Given the description of an element on the screen output the (x, y) to click on. 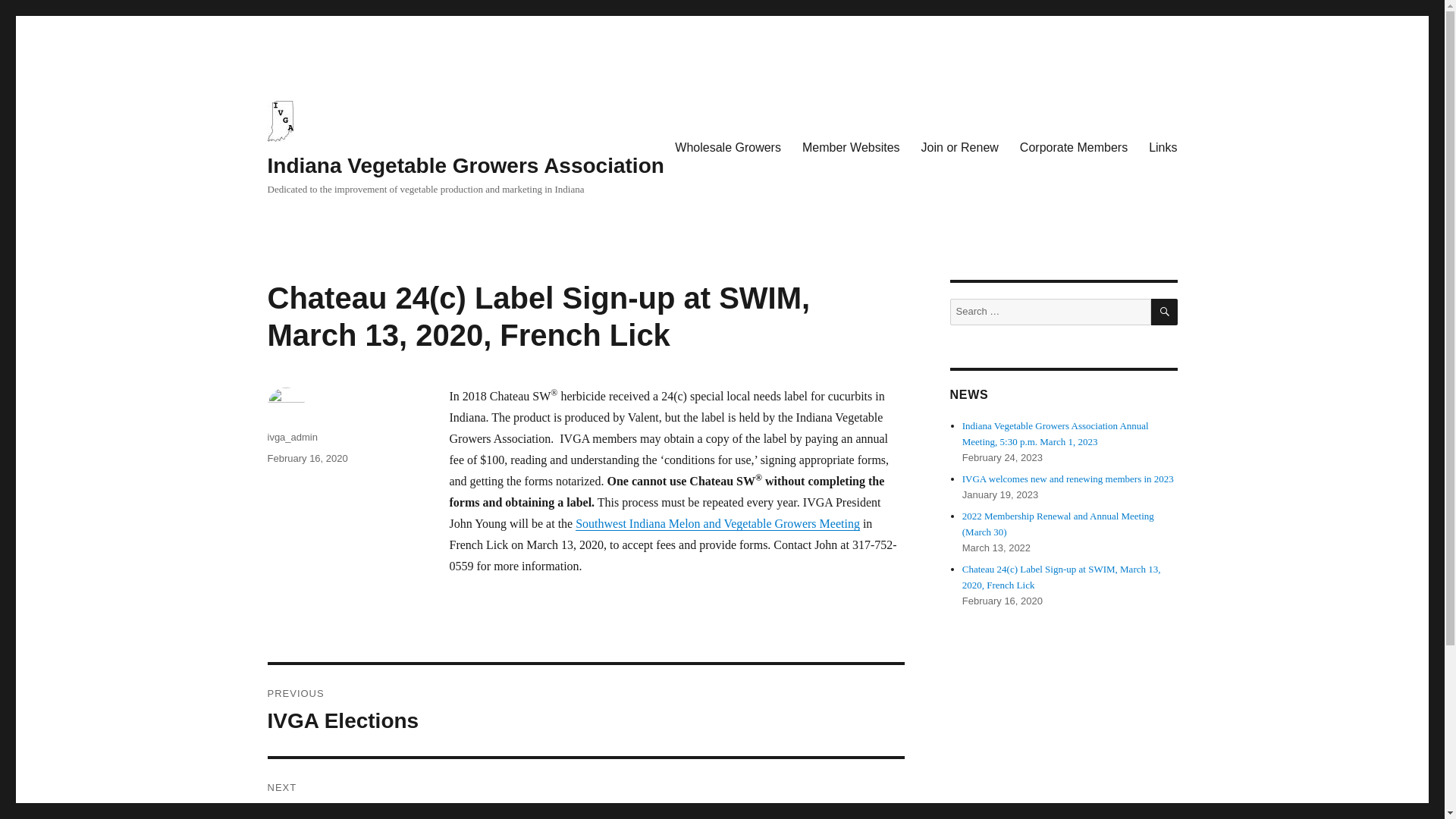
Southwest Indiana Melon and Vegetable Growers Meeting (717, 522)
Wholesale Growers (727, 147)
Links (1163, 147)
SEARCH (1164, 311)
Member Websites (851, 147)
Corporate Members (1073, 147)
February 16, 2020 (306, 458)
Indiana Vegetable Growers Association (464, 165)
IVGA welcomes new and renewing members in 2023 (1067, 478)
